Given the description of an element on the screen output the (x, y) to click on. 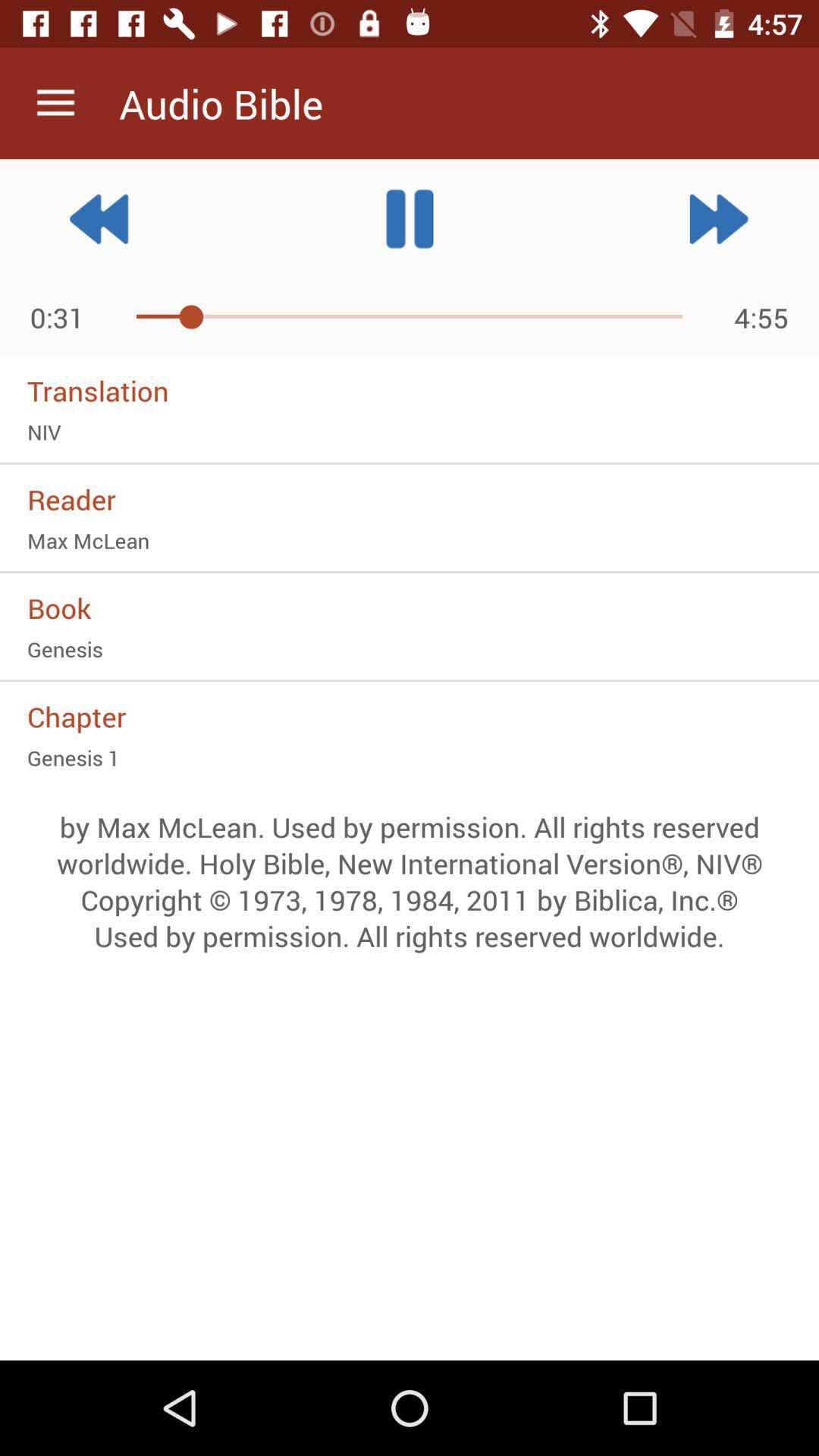
jump to the reader item (409, 499)
